Given the description of an element on the screen output the (x, y) to click on. 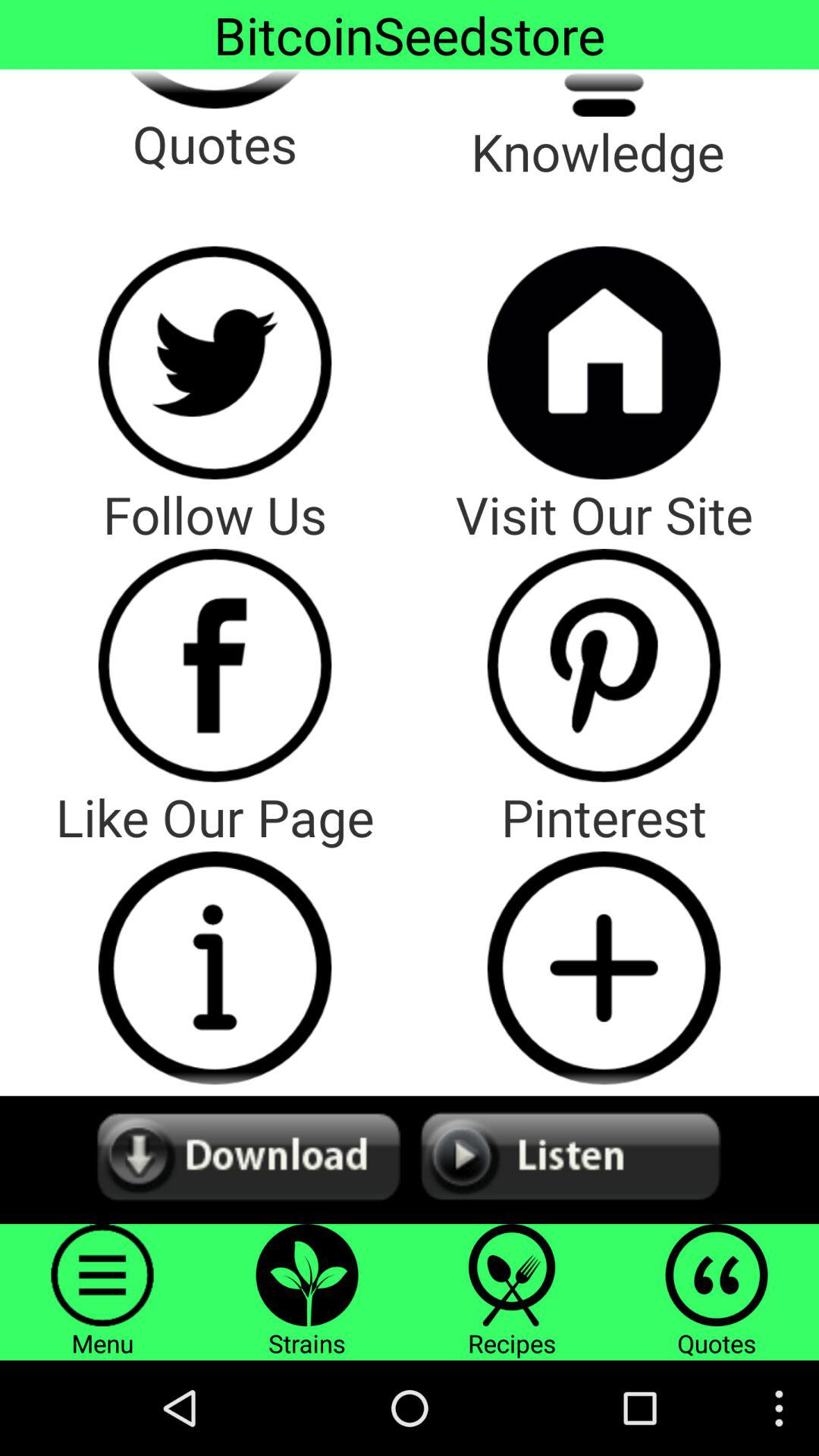
go to homepage (603, 362)
